Given the description of an element on the screen output the (x, y) to click on. 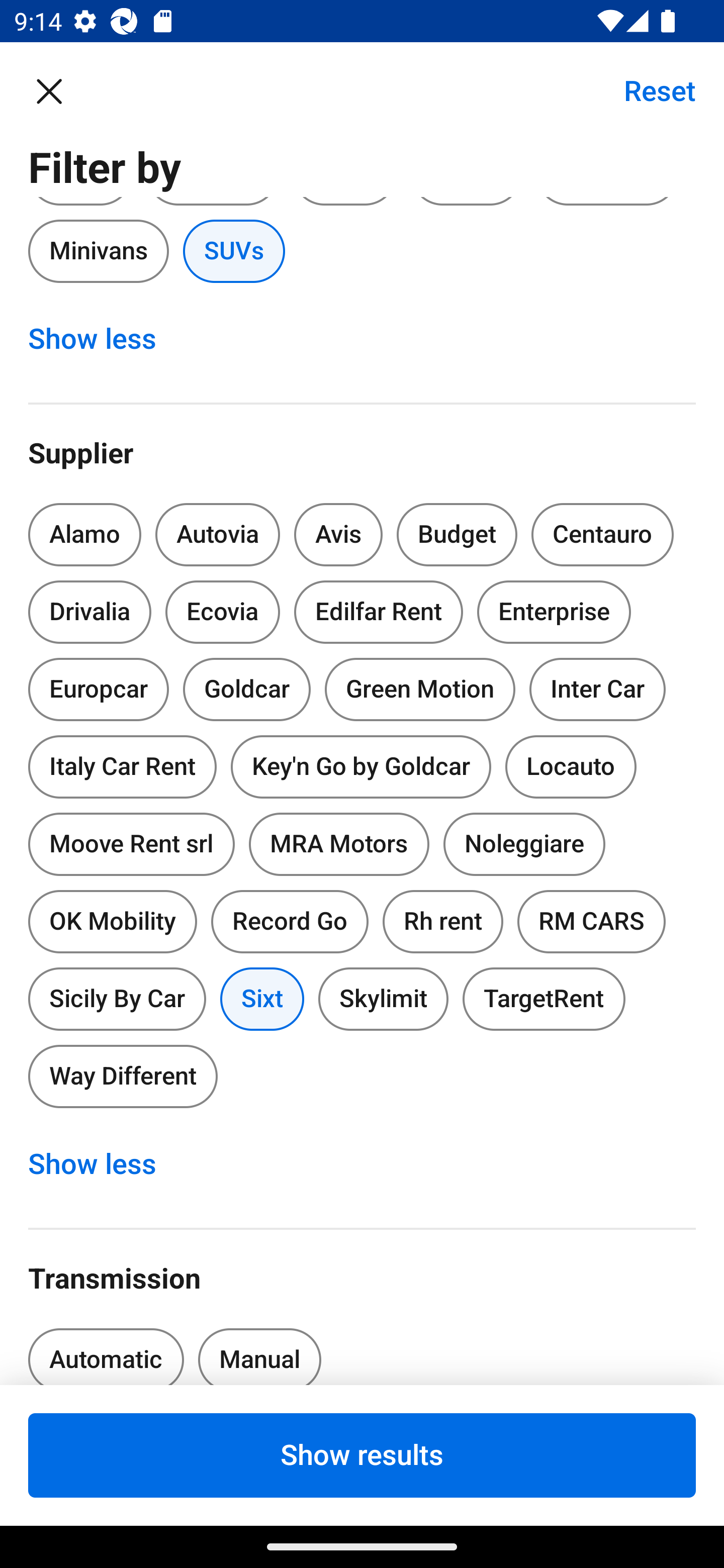
Close (59, 90)
Reset (649, 90)
Minivans (98, 250)
Show less (102, 338)
Alamo (84, 534)
Autovia (217, 534)
Avis (338, 534)
Budget (456, 534)
Centauro (602, 534)
Drivalia (89, 611)
Ecovia (222, 611)
Edilfar Rent (377, 611)
Enterprise (553, 611)
Europcar (98, 685)
Goldcar (246, 689)
Green Motion (420, 689)
Inter Car (597, 689)
Italy Car Rent (122, 763)
Key'n Go by Goldcar (360, 766)
Locauto (570, 766)
Moove Rent srl (131, 843)
MRA Motors (339, 843)
Noleggiare (524, 843)
OK Mobility (112, 917)
Record Go (289, 921)
Rh rent (442, 921)
RM CARS (591, 921)
Sicily By Car (117, 995)
Skylimit (383, 998)
TargetRent (543, 998)
Way Different (122, 1075)
Show less (102, 1164)
Automatic (105, 1350)
Manual (259, 1350)
Show results (361, 1454)
